Given the description of an element on the screen output the (x, y) to click on. 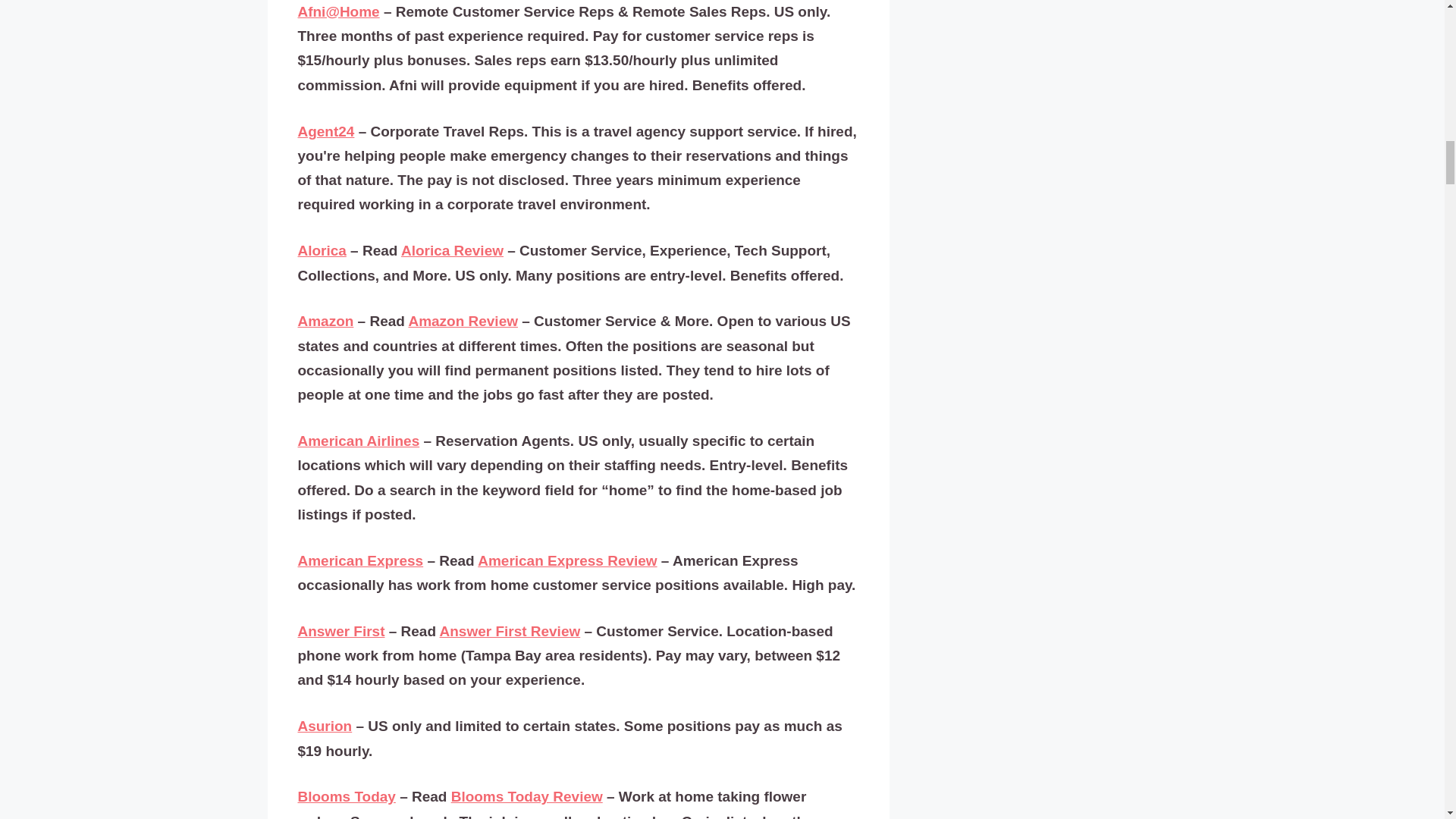
Amazon Review (462, 321)
Alorica Review (452, 250)
Agent24 (325, 131)
Asurion (324, 726)
Blooms Today (345, 796)
Blooms Today Review (526, 796)
Answer First Review (509, 631)
Work at Home Customer Service For Amazon (462, 321)
Work at Home With American Express (566, 560)
Answer First (340, 631)
